Given the description of an element on the screen output the (x, y) to click on. 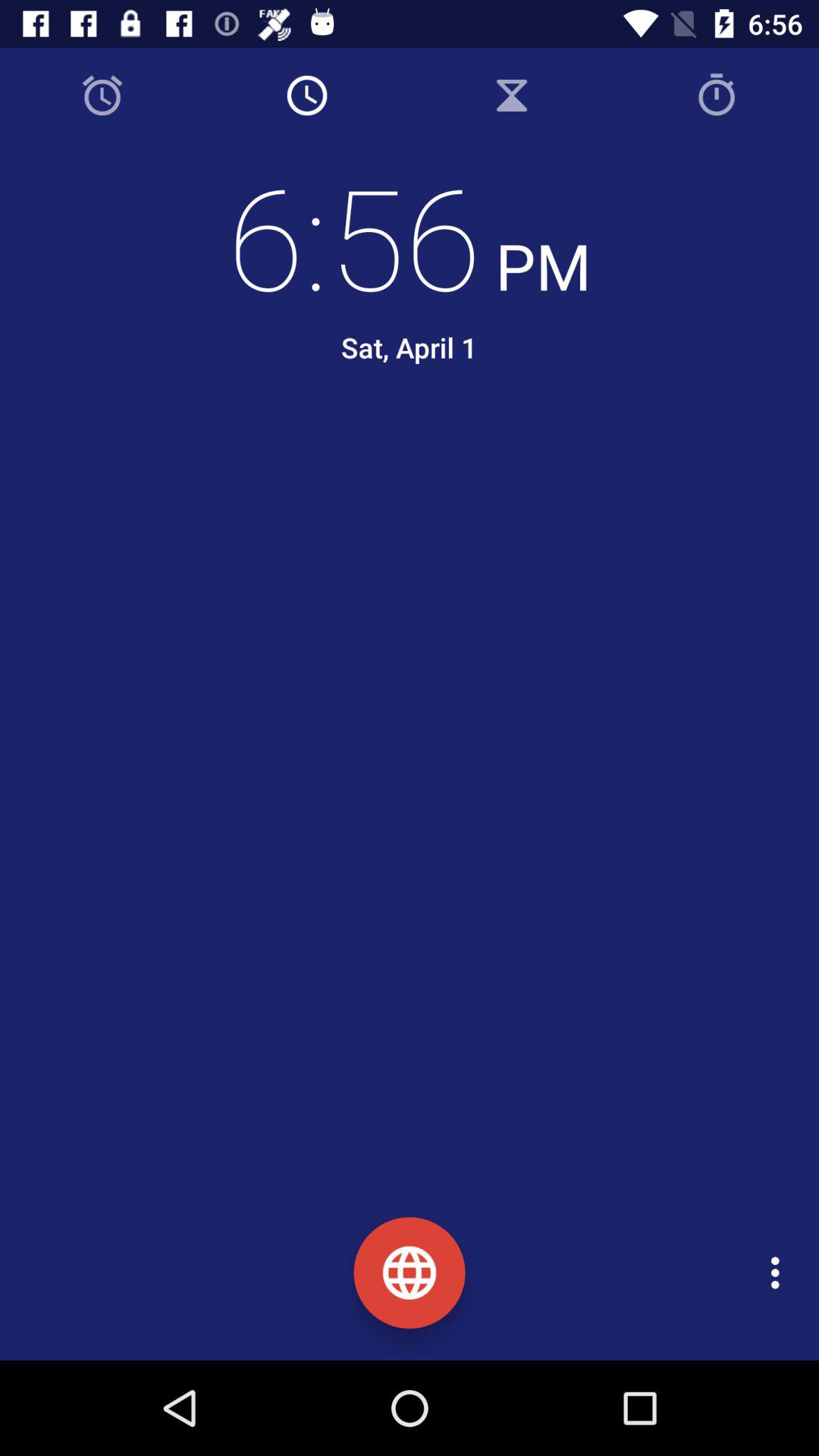
scroll until sat, april 1 icon (409, 347)
